Given the description of an element on the screen output the (x, y) to click on. 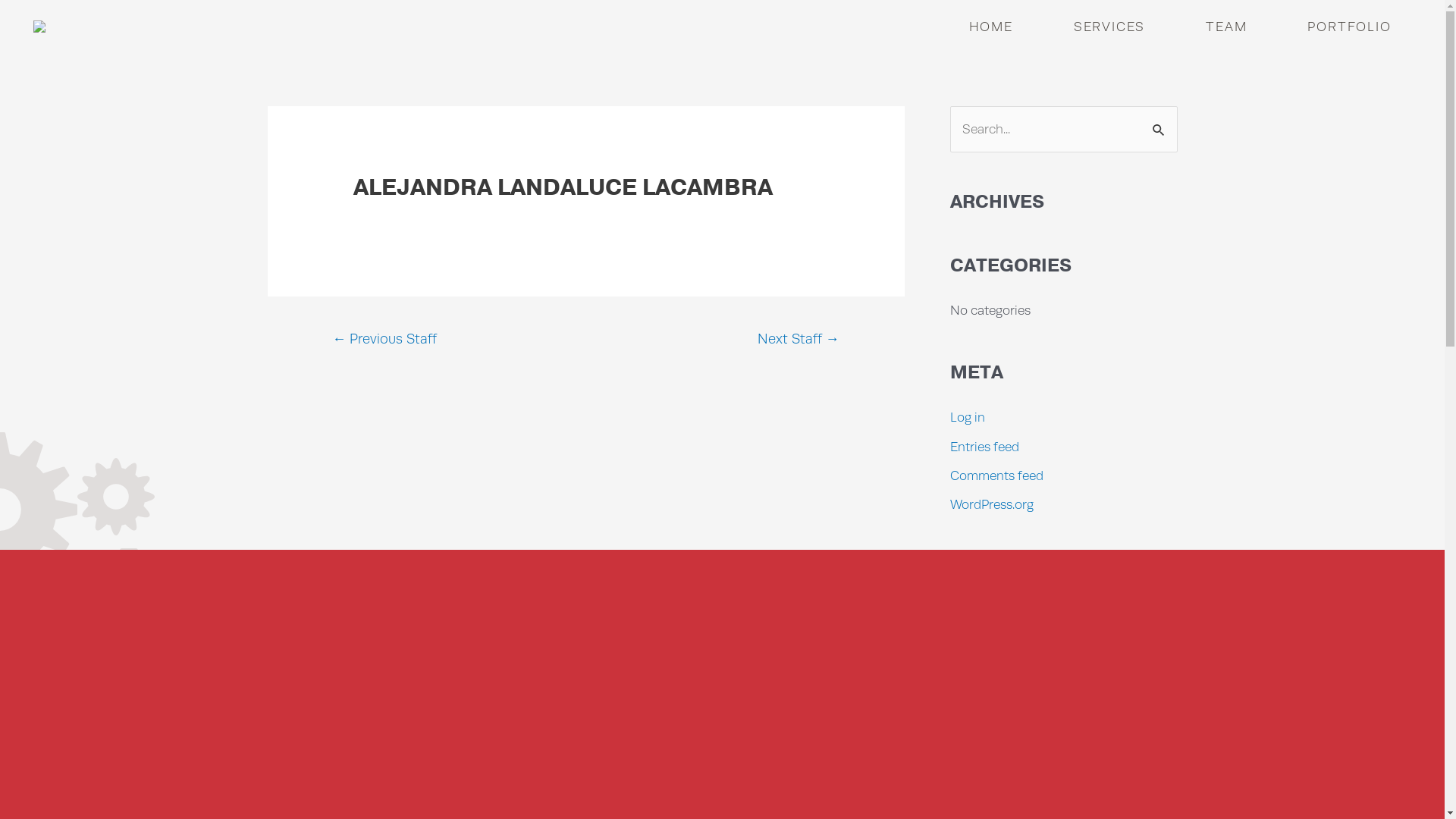
Entries feed Element type: text (983, 446)
Comments feed Element type: text (995, 475)
Search Element type: text (1160, 122)
PORTFOLIO Element type: text (1348, 27)
HOME Element type: text (990, 27)
WordPress.org Element type: text (990, 503)
SERVICES Element type: text (1109, 27)
TEAM Element type: text (1225, 27)
Log in Element type: text (966, 416)
